Given the description of an element on the screen output the (x, y) to click on. 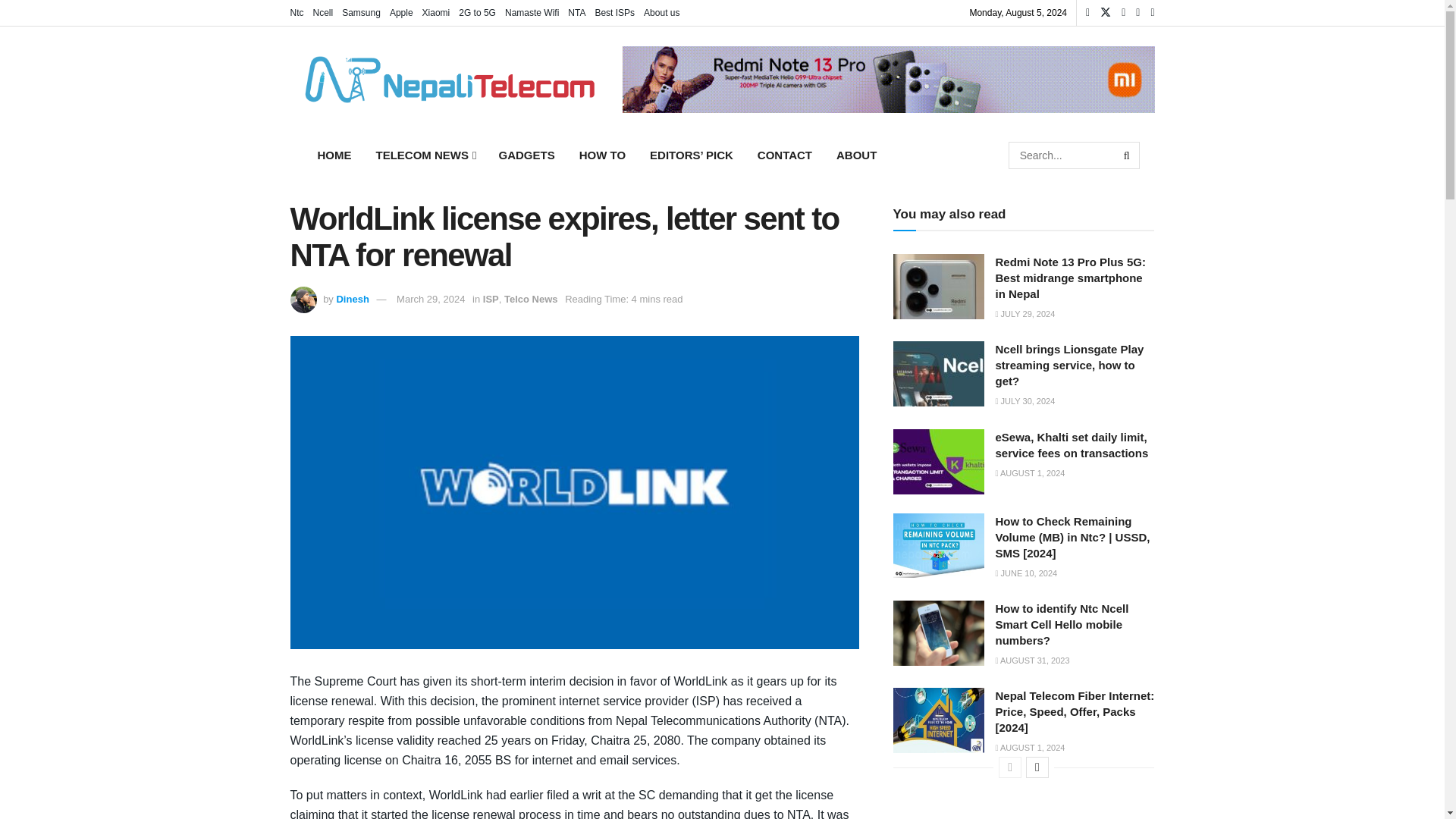
2G to 5G (477, 12)
Namaste Wifi (532, 12)
Best ISPs (614, 12)
GADGETS (526, 155)
Apple (401, 12)
TELECOM NEWS (425, 155)
HOME (333, 155)
Previous (1010, 767)
Xiaomi (435, 12)
HOW TO (602, 155)
Samsung (361, 12)
ABOUT (856, 155)
Next (1037, 767)
CONTACT (784, 155)
About us (661, 12)
